Given the description of an element on the screen output the (x, y) to click on. 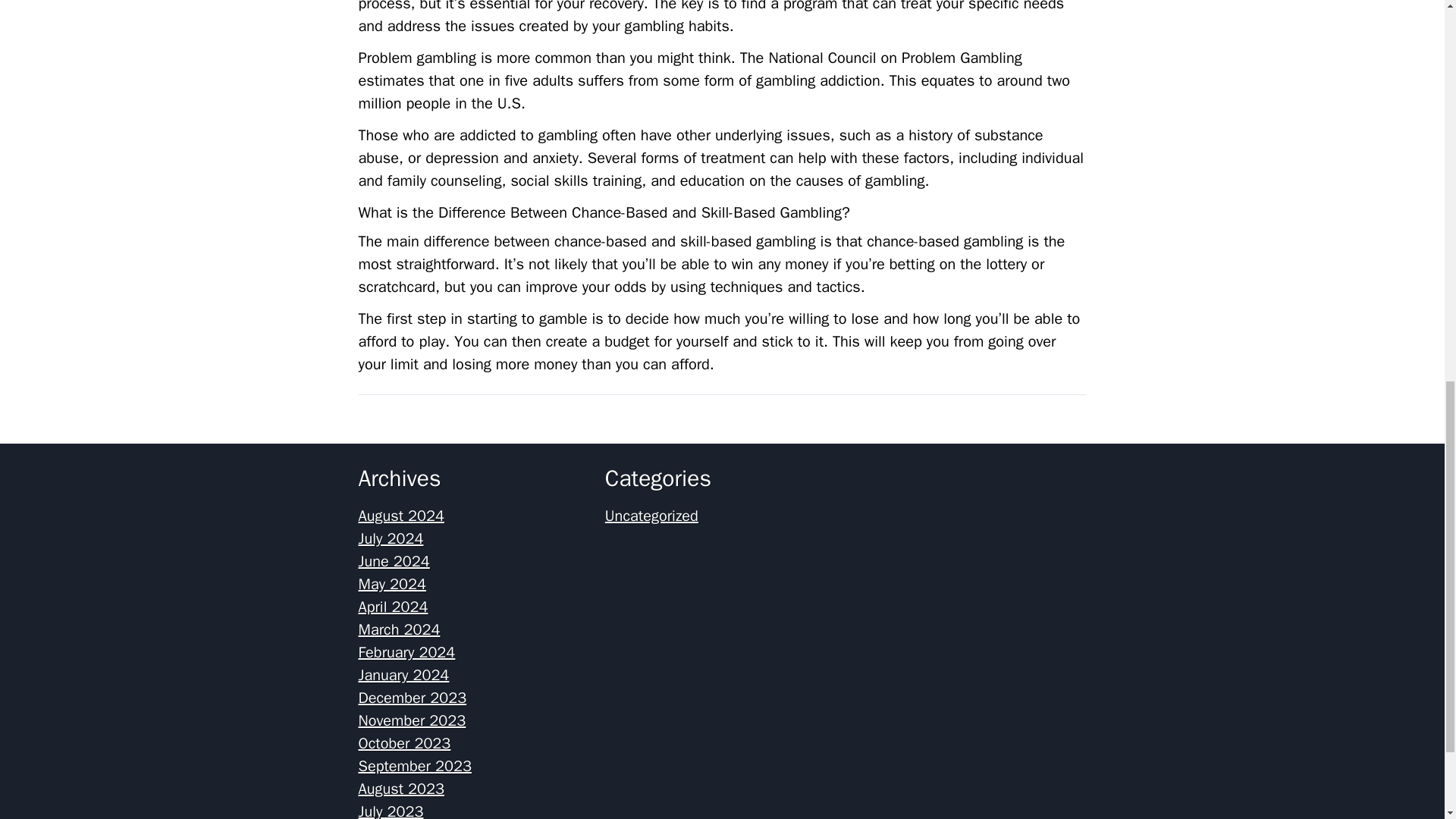
March 2024 (398, 629)
February 2024 (406, 651)
July 2024 (390, 538)
September 2023 (414, 765)
December 2023 (411, 697)
May 2024 (392, 583)
August 2024 (401, 515)
November 2023 (411, 720)
Uncategorized (651, 515)
April 2024 (393, 606)
